Given the description of an element on the screen output the (x, y) to click on. 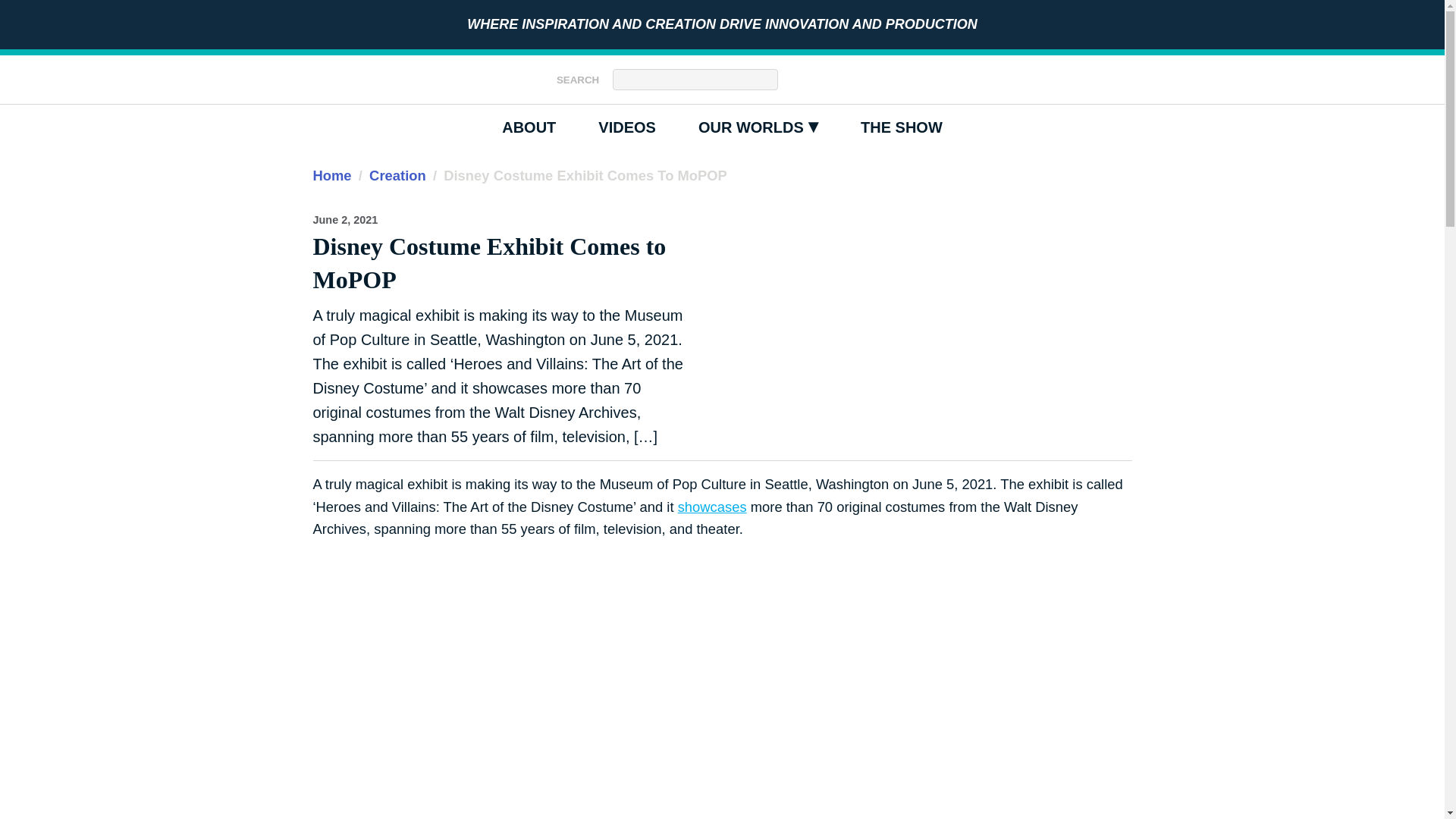
VIDEOS (627, 126)
OUR WORLDS (757, 126)
SEARCH (580, 79)
Home (331, 175)
Creation (397, 175)
THE SHOW (901, 126)
ABOUT (528, 126)
showcases (345, 219)
